Given the description of an element on the screen output the (x, y) to click on. 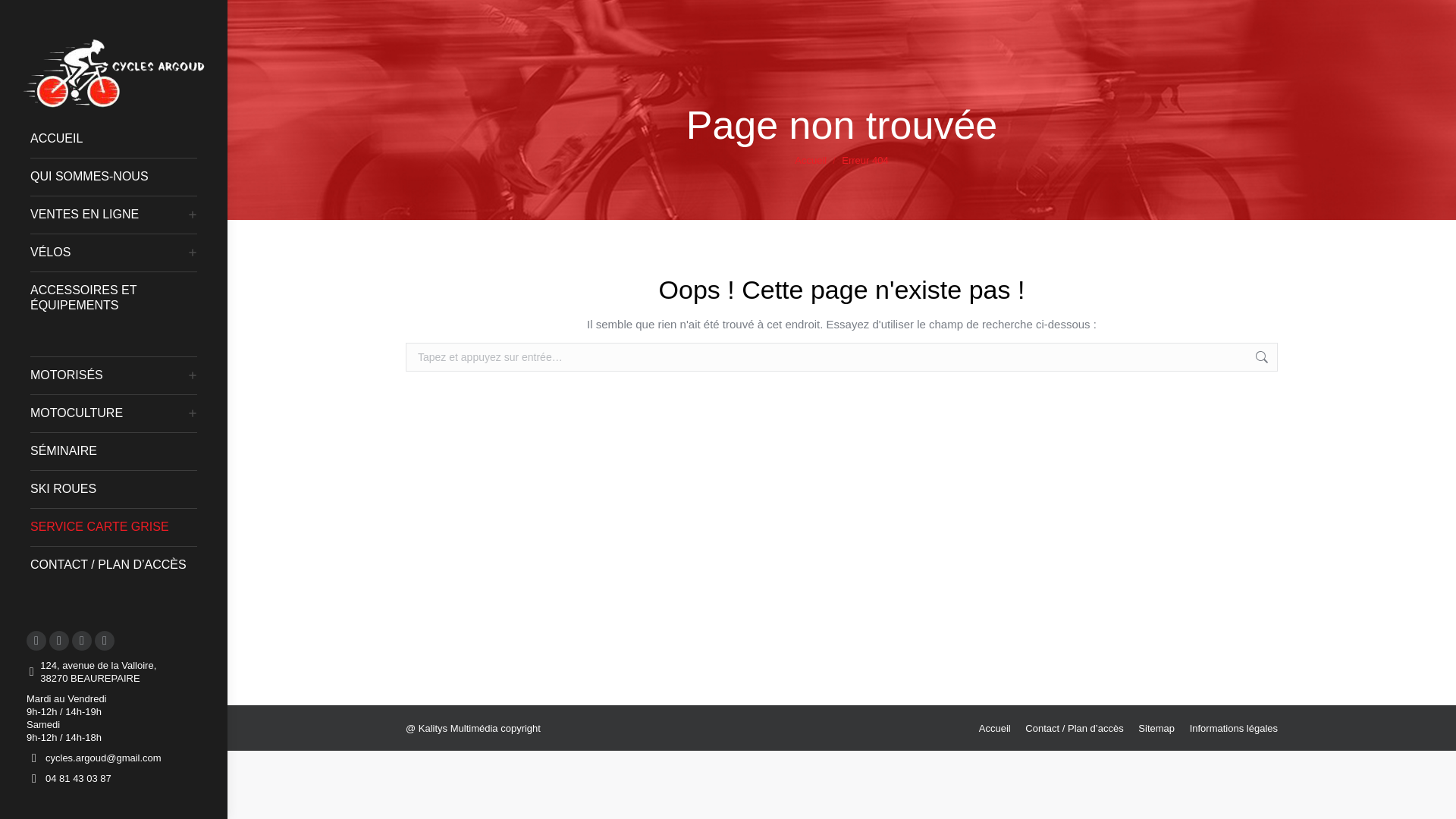
MOTOCULTURE (111, 412)
QUI SOMMES-NOUS (121, 176)
SKI ROUES (121, 488)
ACCUEIL (121, 138)
VENTES EN LIGNE (111, 214)
ventes-en-ligne (111, 214)
Aller ! (1308, 359)
SERVICE CARTE GRISE (121, 526)
velos (111, 252)
Aller ! (1308, 359)
